Given the description of an element on the screen output the (x, y) to click on. 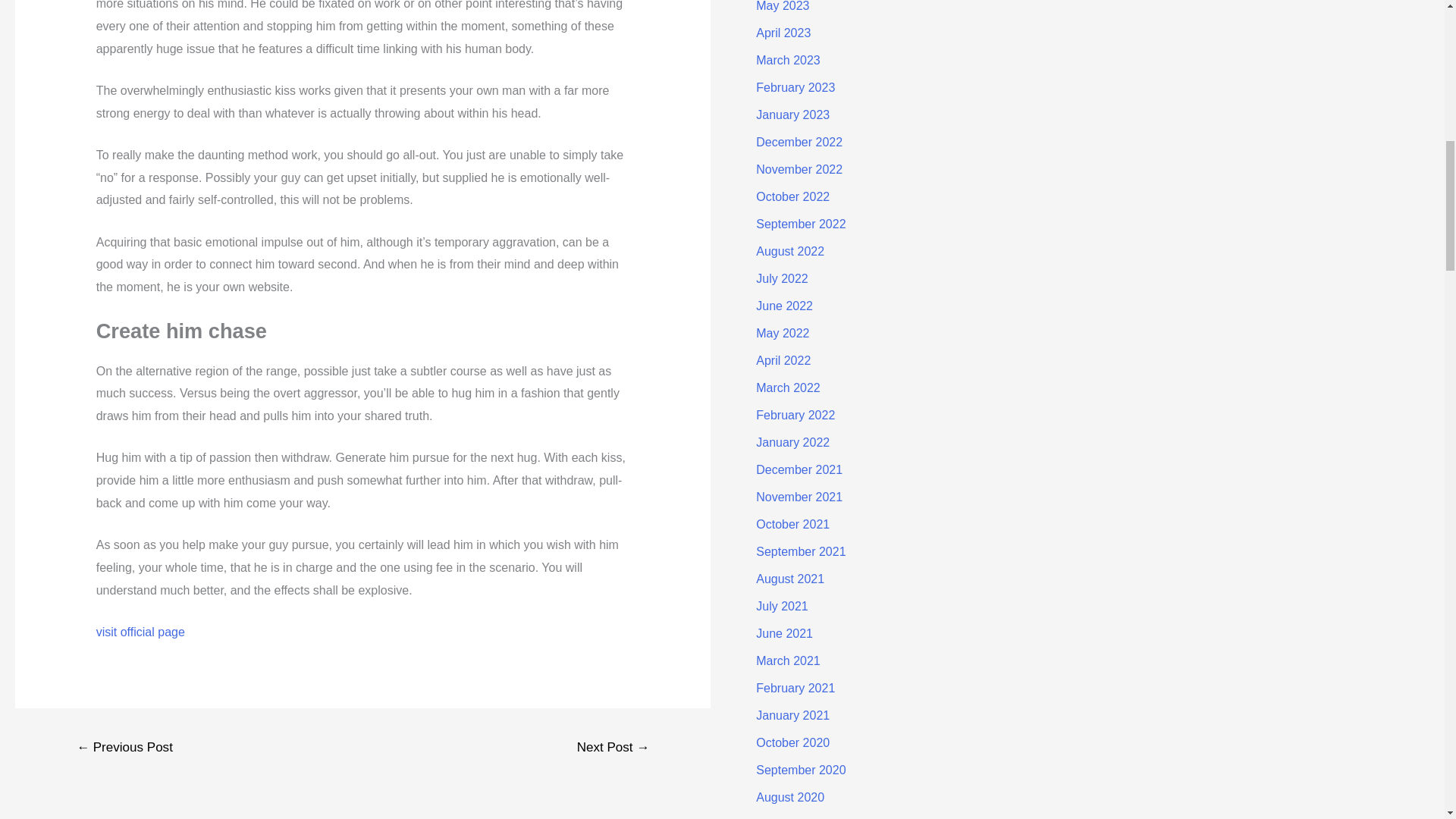
February 2022 (794, 414)
August 2022 (789, 250)
October 2022 (792, 196)
October 2021 (792, 523)
May 2023 (782, 6)
March 2022 (788, 387)
January 2022 (792, 441)
July 2022 (781, 278)
February 2023 (794, 87)
visit official page (140, 631)
